Given the description of an element on the screen output the (x, y) to click on. 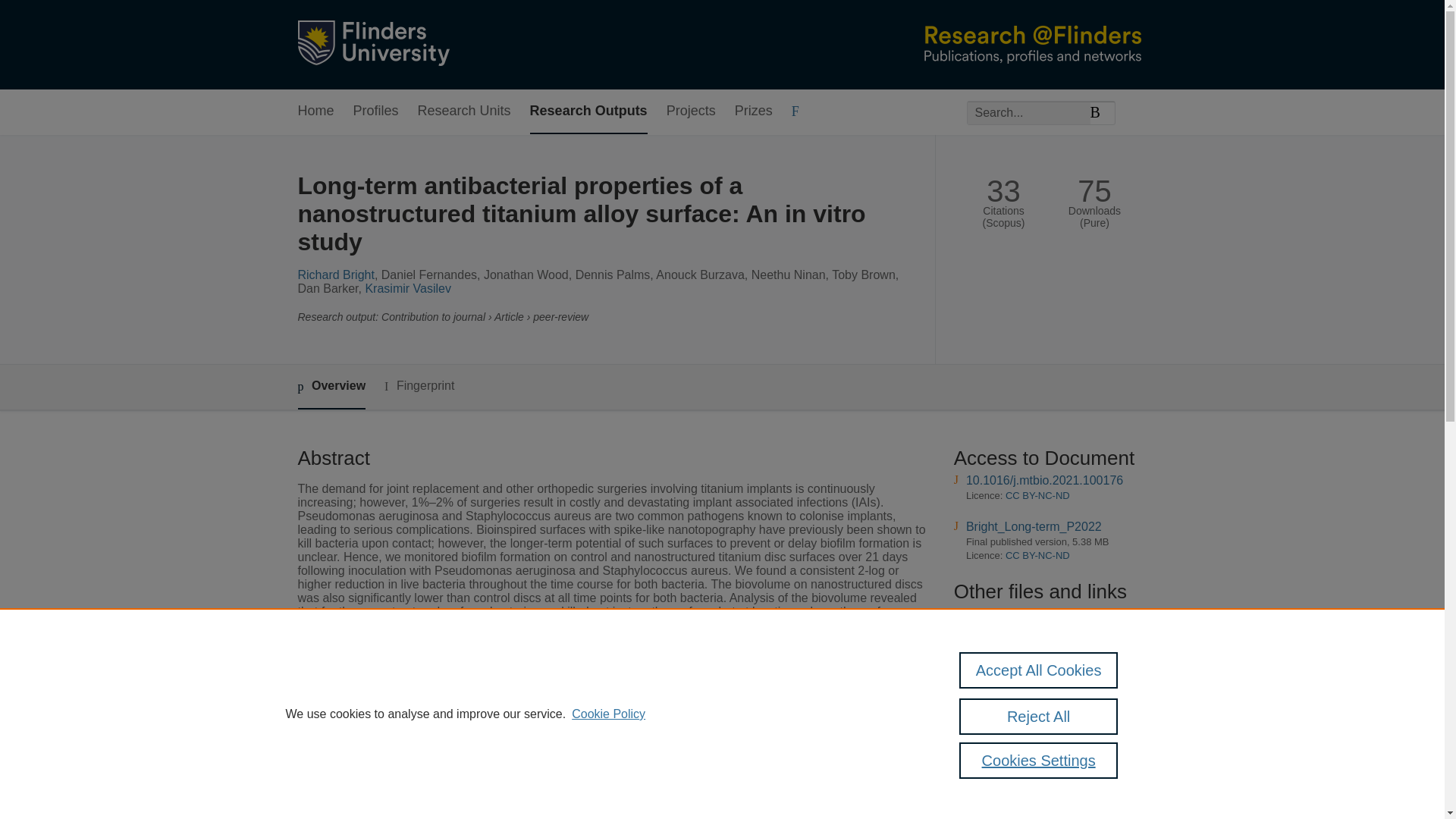
Krasimir Vasilev (408, 287)
Overview (331, 386)
Fingerprint (419, 385)
Research Units (464, 111)
Projects (691, 111)
Materials Today Bio (562, 770)
CC BY-NC-ND (1038, 555)
Richard Bright (335, 274)
CC BY-NC-ND (1038, 495)
Research Outputs (588, 111)
